Given the description of an element on the screen output the (x, y) to click on. 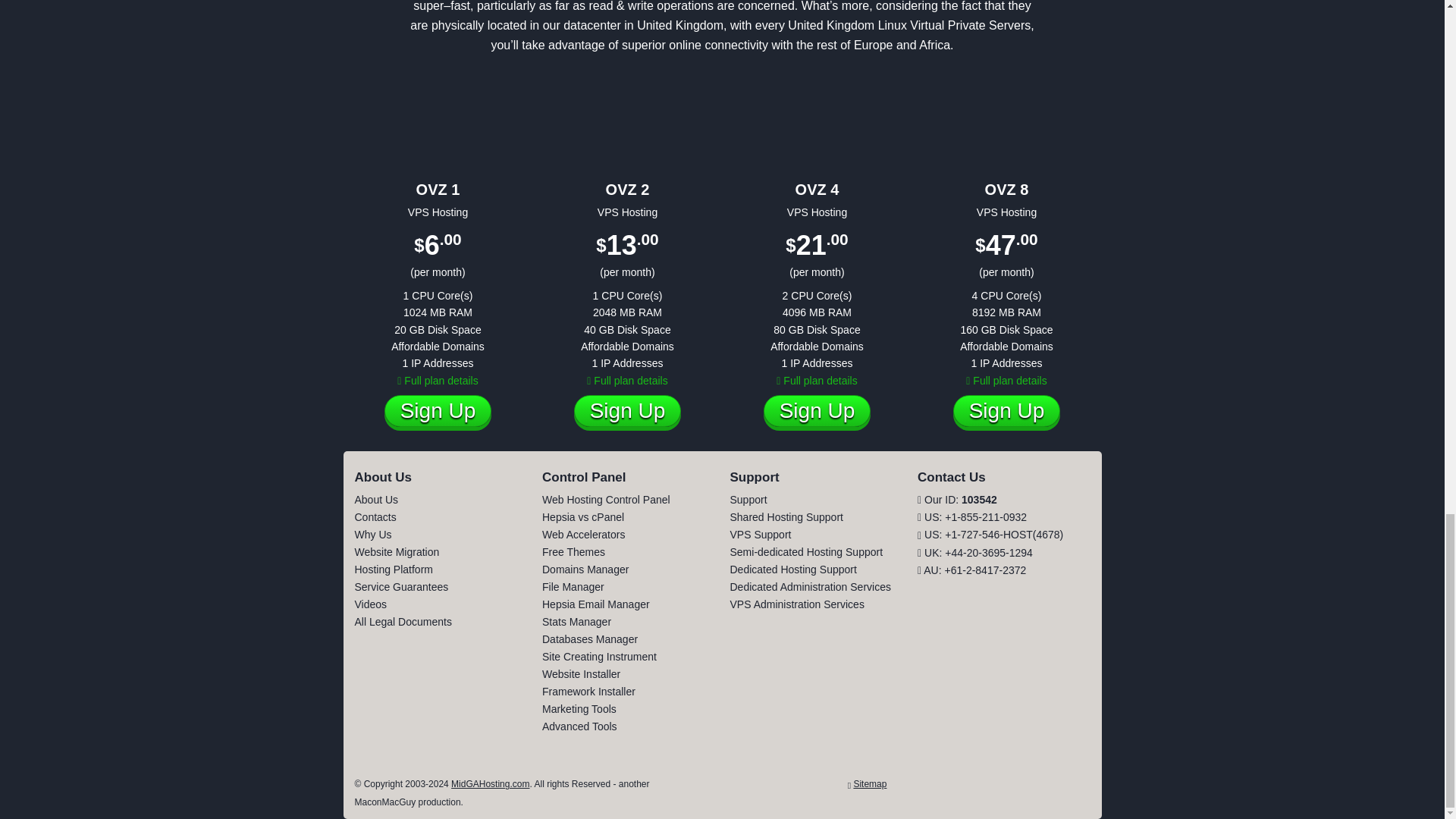
OVZ 2 Shared Hosting Plan Details (626, 380)
OVZ 8 Shared Hosting Plan Details (1006, 380)
OVZ 1 Shared Hosting Plan Details (437, 380)
OVZ 4 Shared Hosting Plan Details (816, 380)
